Given the description of an element on the screen output the (x, y) to click on. 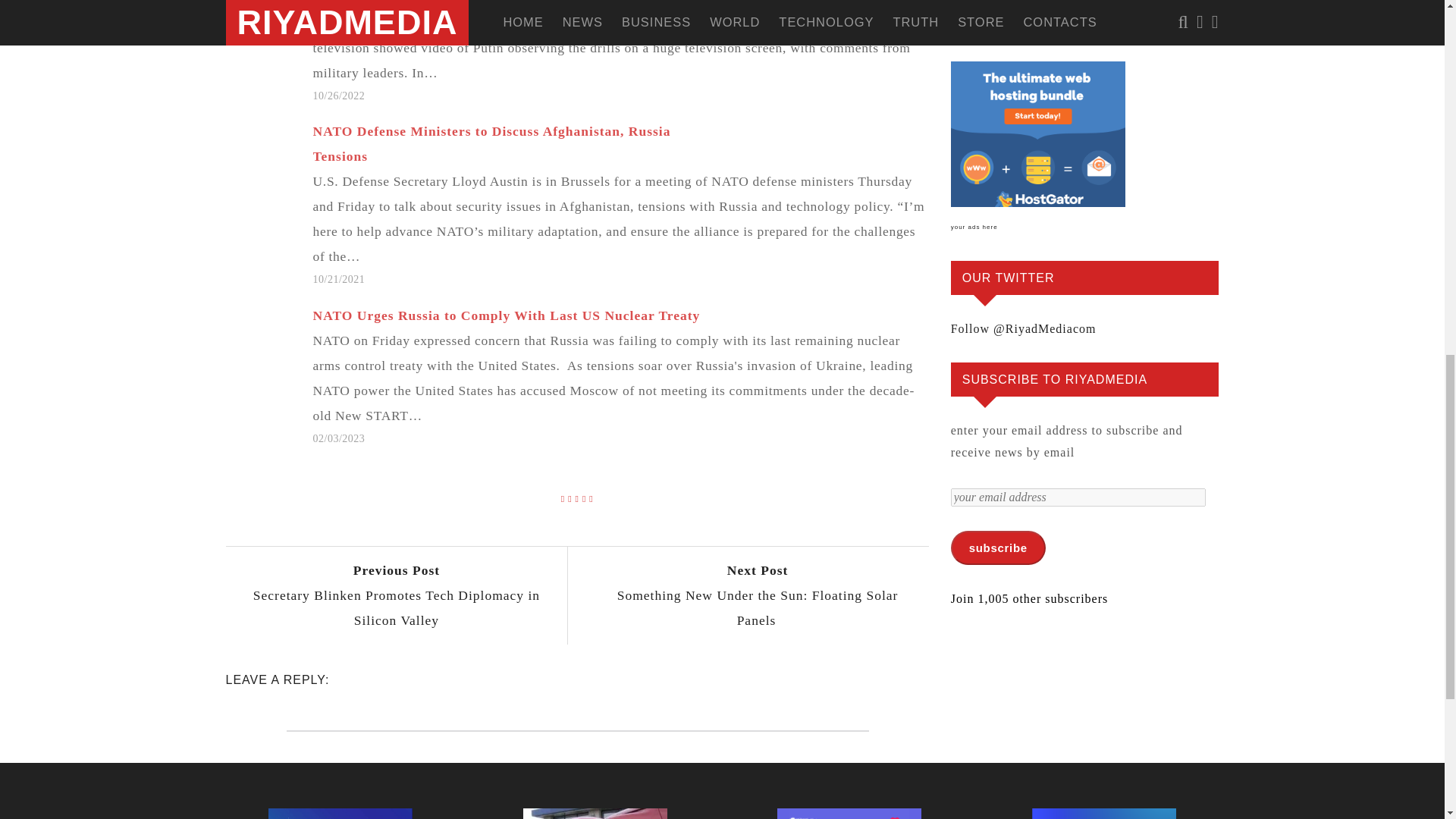
NATO Urges Russia to Comply With Last US Nuclear Treaty (757, 595)
NATO Urges Russia to Comply With Last US Nuclear Treaty (628, 375)
Putin Monitors Strategic Nuclear Forces Exercise (506, 314)
NATO Urges Russia to Comply With Last US Nuclear Treaty (628, 53)
